Given the description of an element on the screen output the (x, y) to click on. 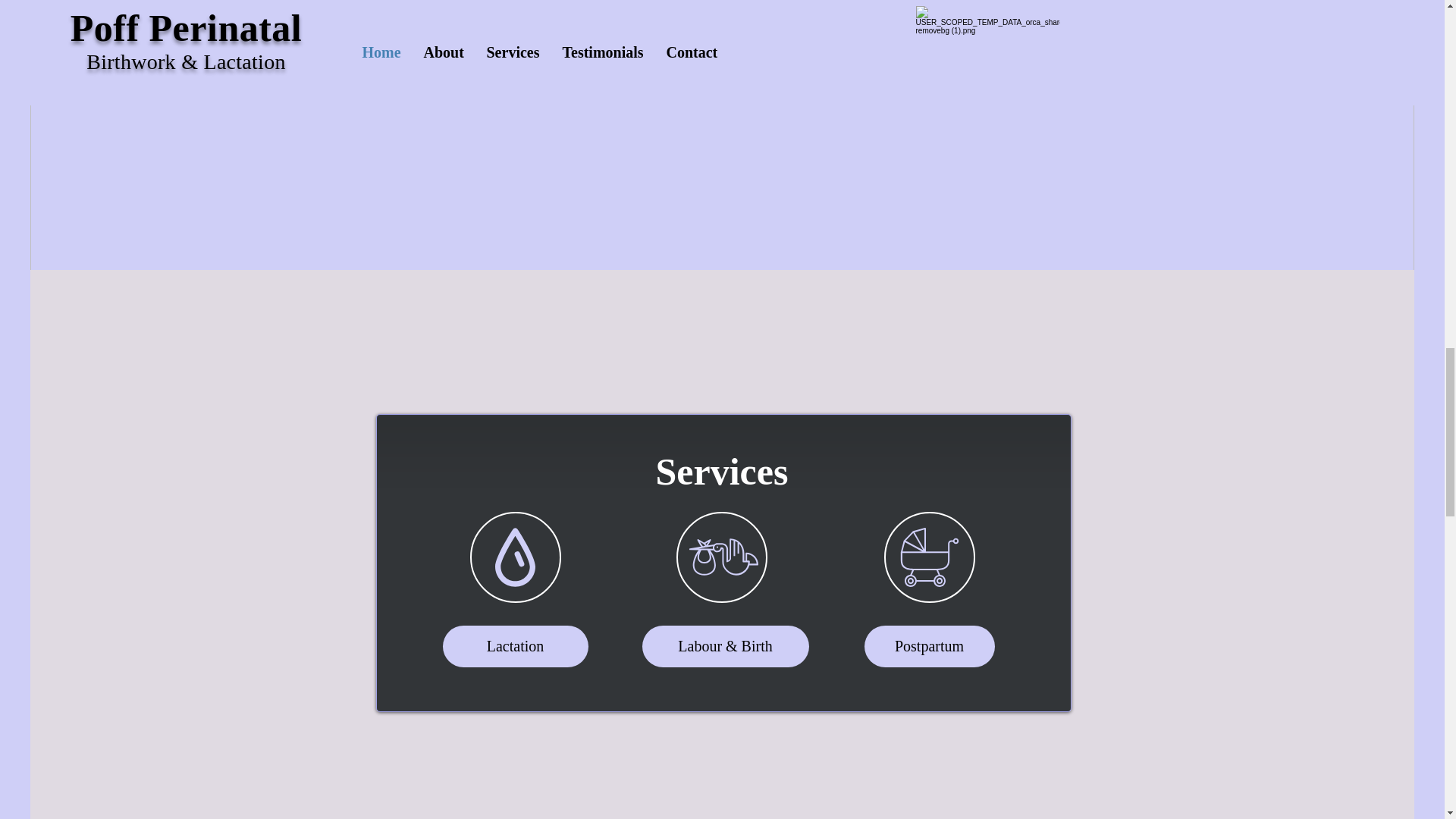
Postpartum (929, 646)
Lactation (515, 646)
